Given the description of an element on the screen output the (x, y) to click on. 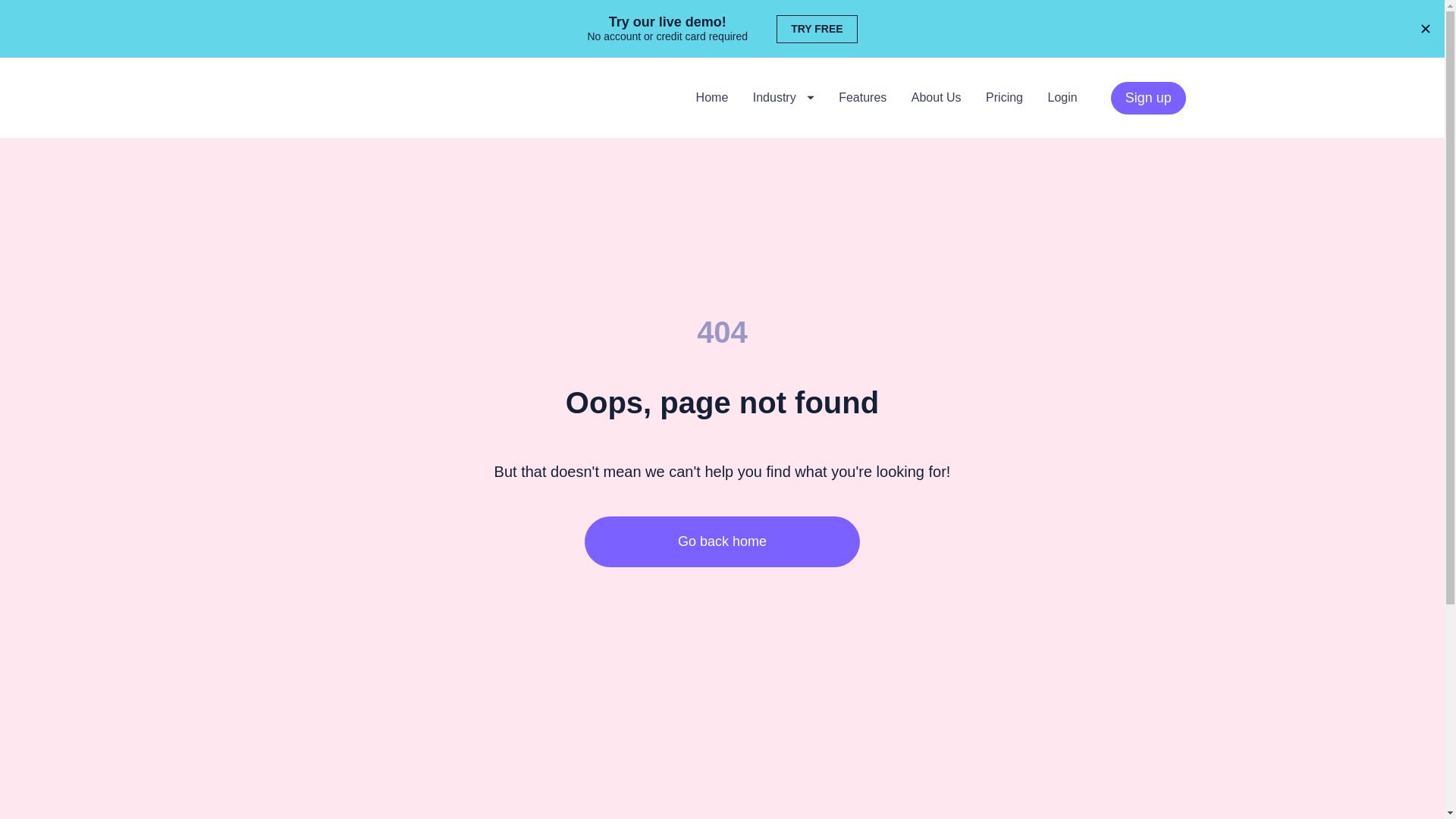
Industry (782, 97)
Home (712, 97)
Sign up (1148, 97)
Go back home (722, 541)
Login (1061, 97)
Pricing (1004, 97)
About Us (935, 97)
Features (862, 97)
